Given the description of an element on the screen output the (x, y) to click on. 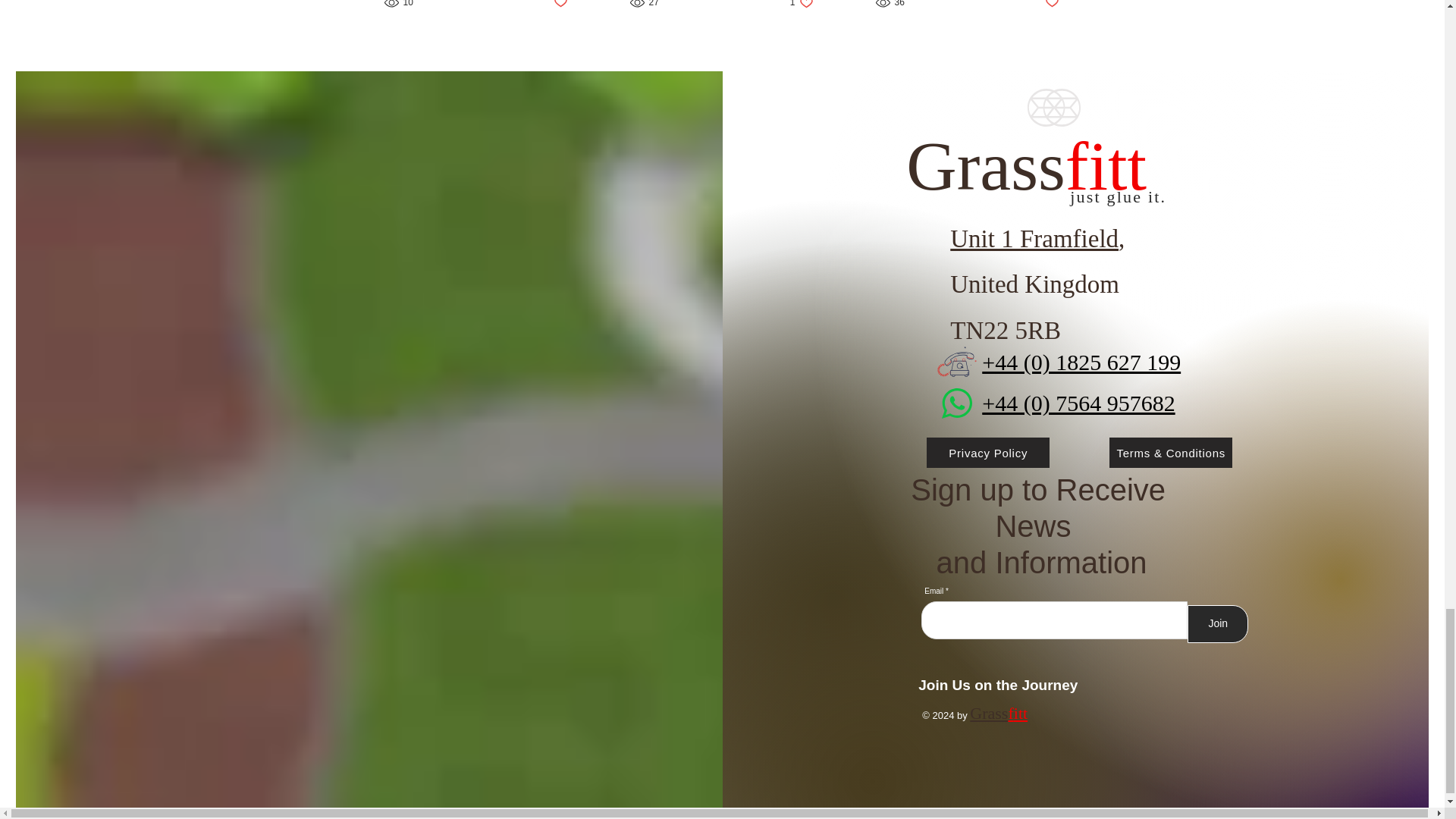
Post not marked as liked (801, 4)
Privacy Policy (1052, 5)
Grassfitt (987, 452)
just glue it. (1026, 165)
Join (1118, 196)
Post not marked as liked (1217, 623)
Unit 1 Framfield (560, 5)
